Given the description of an element on the screen output the (x, y) to click on. 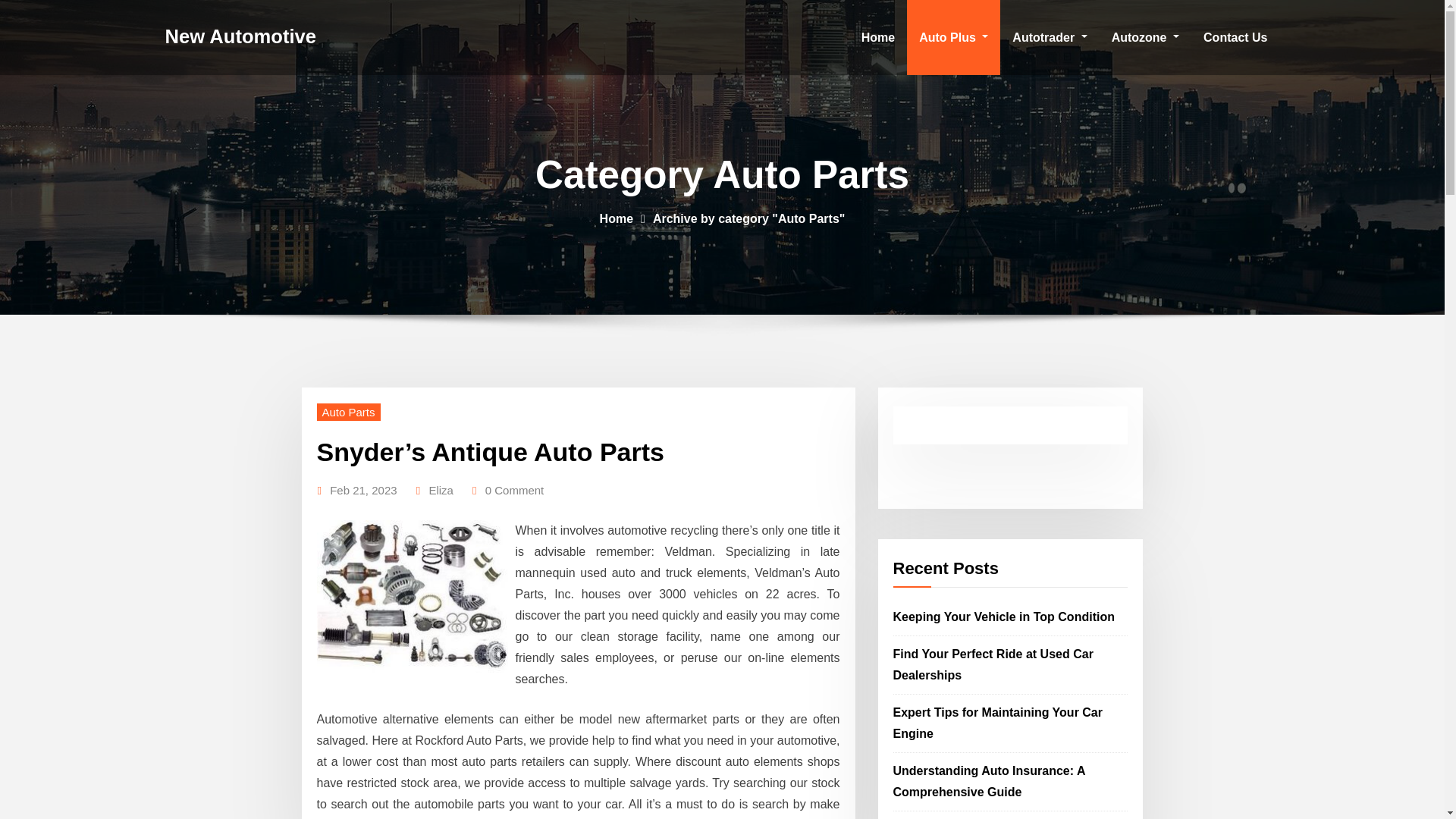
0 Comment (514, 490)
Home (616, 218)
Auto Parts (348, 411)
Autozone (1145, 37)
Contact Us (1235, 37)
New Automotive (241, 35)
Autotrader (1049, 37)
Archive by category "Auto Parts" (748, 218)
Feb 21, 2023 (363, 490)
Auto Plus (953, 37)
Eliza (440, 490)
